Given the description of an element on the screen output the (x, y) to click on. 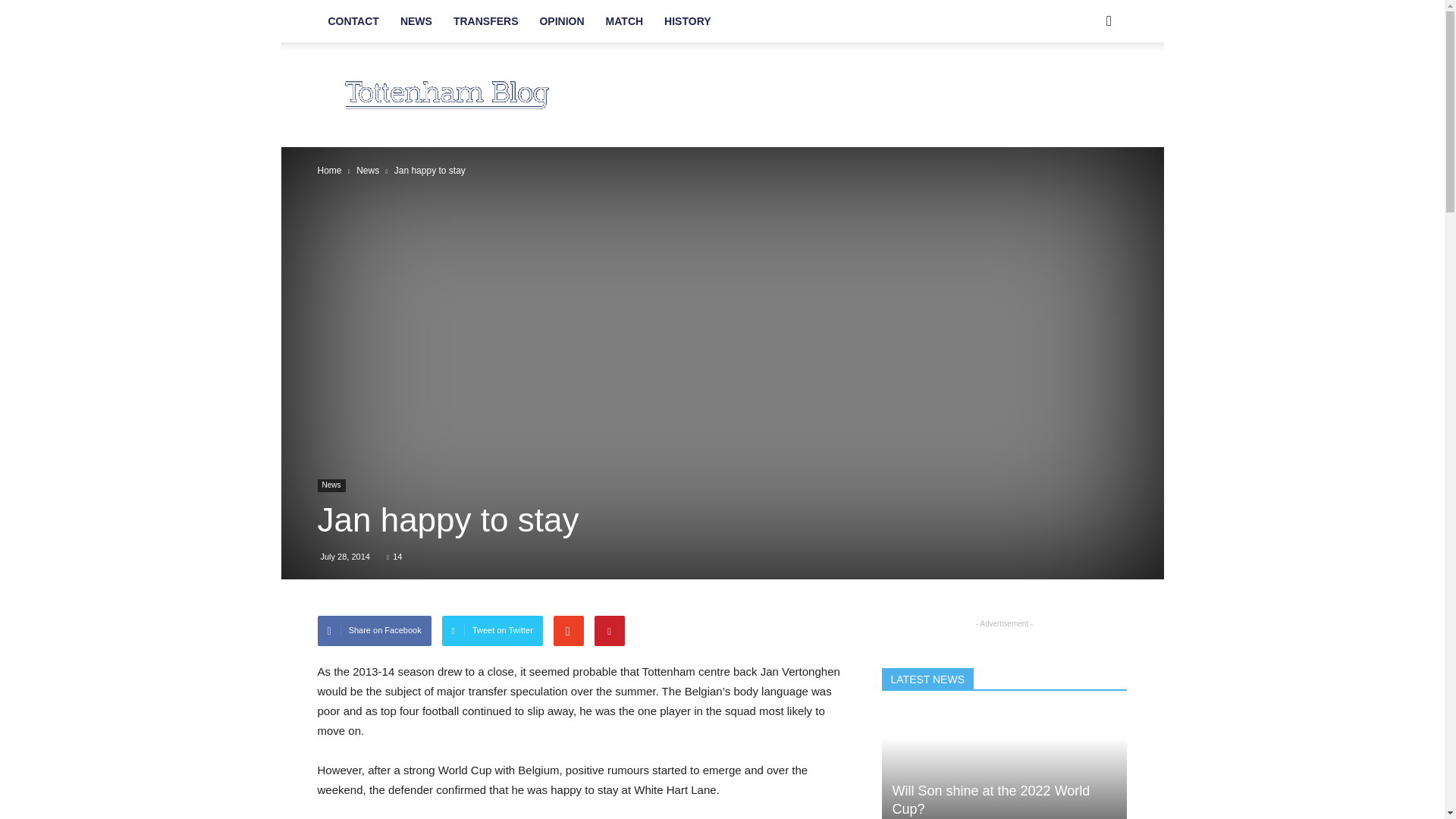
TRANSFERS (485, 21)
Will Son shine at the 2022 World Cup? (1003, 764)
14 (395, 556)
Will Son shine at the 2022 World Cup? (990, 799)
HISTORY (686, 21)
NEWS (416, 21)
MATCH (624, 21)
View all posts in News (367, 170)
Home (328, 170)
OPINION (561, 21)
News (367, 170)
Tweet on Twitter (492, 630)
CONTACT (352, 21)
Share on Facebook (373, 630)
News (331, 485)
